Given the description of an element on the screen output the (x, y) to click on. 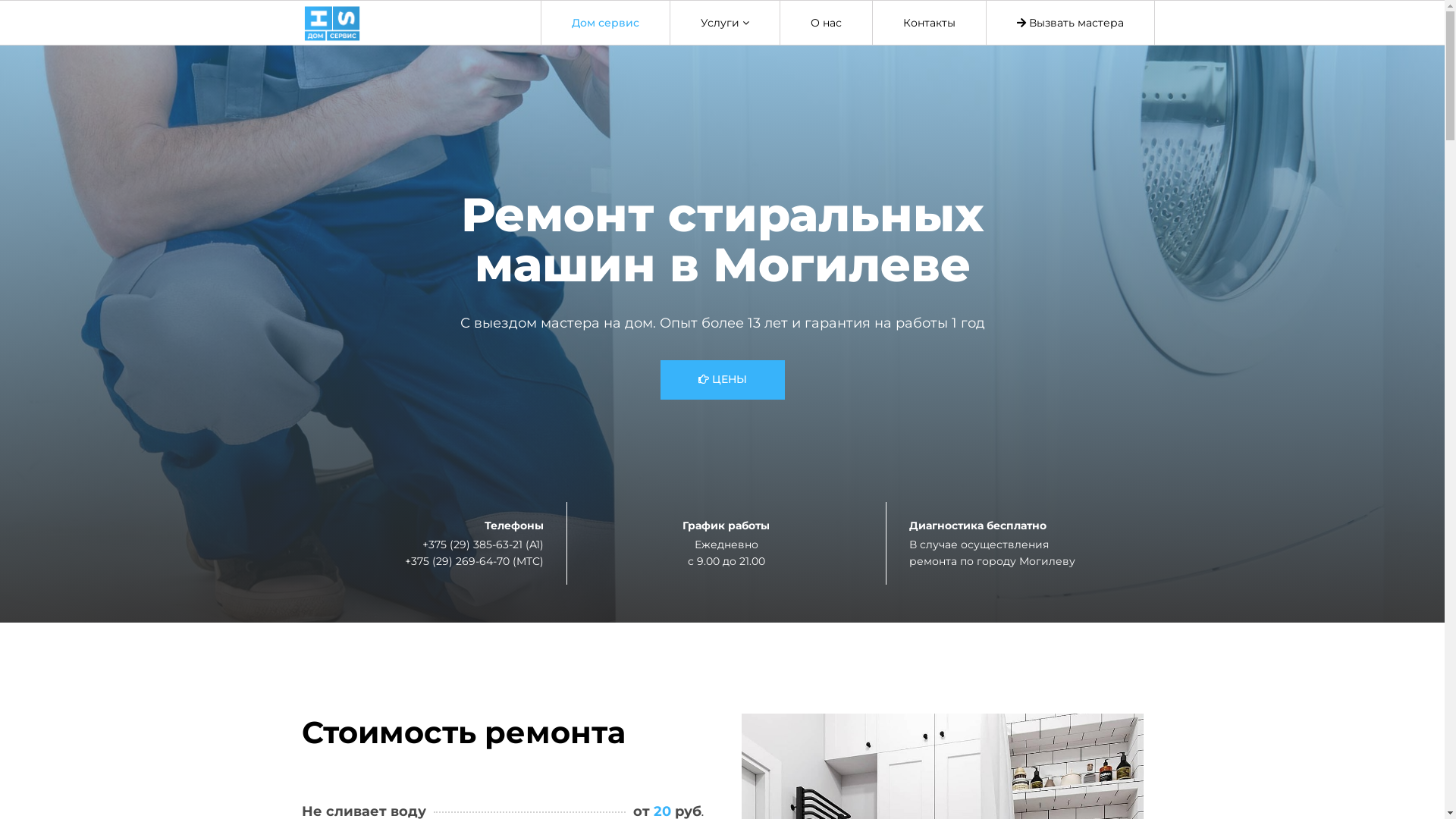
+375 (29) 269-64-70 (MTC) Element type: text (473, 560)
+375 (29) 385-63-21 (A1) Element type: text (481, 543)
